Given the description of an element on the screen output the (x, y) to click on. 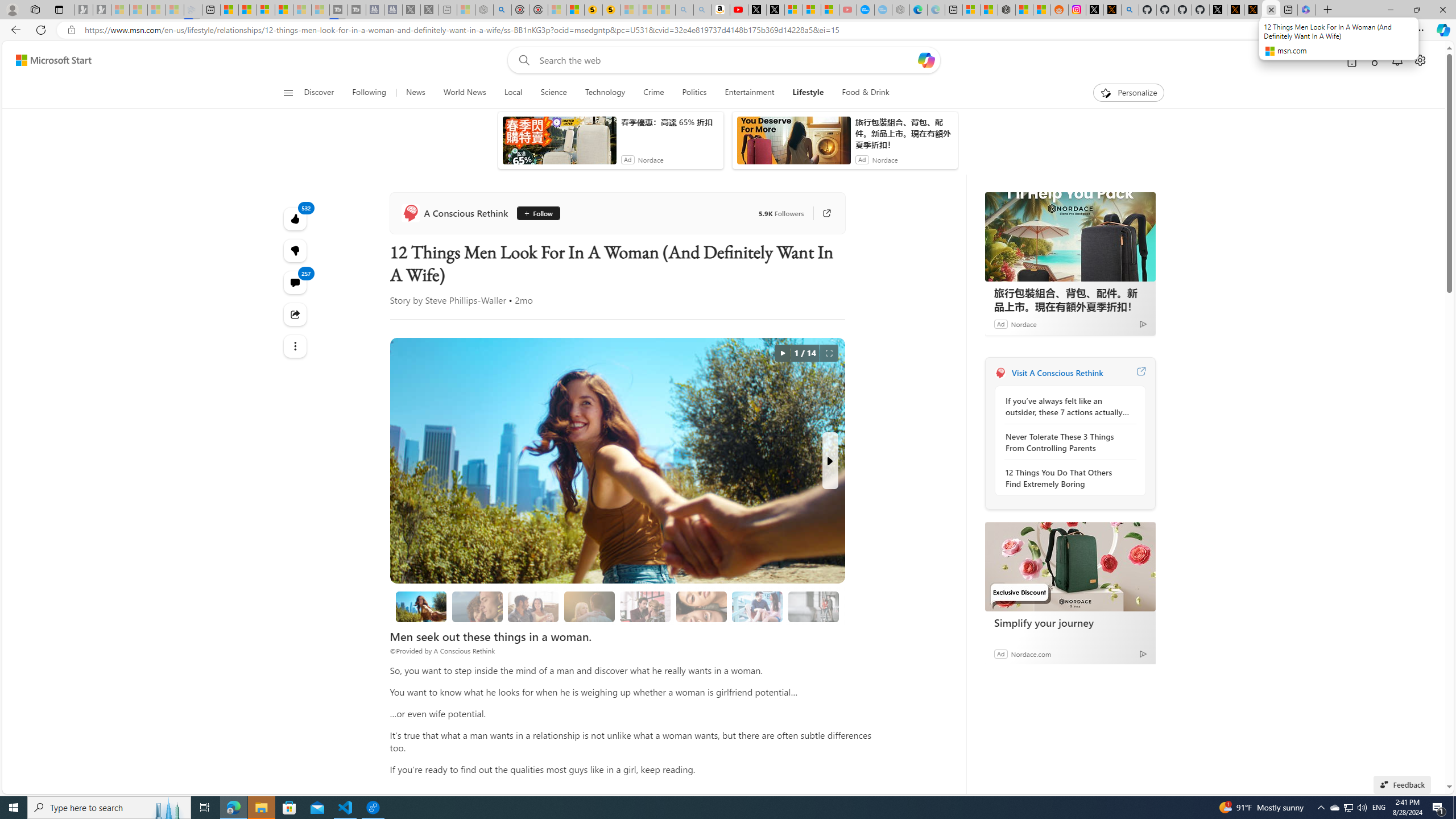
Gloom - YouTube - Sleeping (847, 9)
3. People flirt with you and want your company. (757, 606)
12 Things You Do That Others Find Extremely Boring (1066, 477)
5. She is independent. (701, 606)
Wildlife - MSN - Sleeping (466, 9)
Open navigation menu (287, 92)
Entertainment (748, 92)
github - Search (1130, 9)
